Given the description of an element on the screen output the (x, y) to click on. 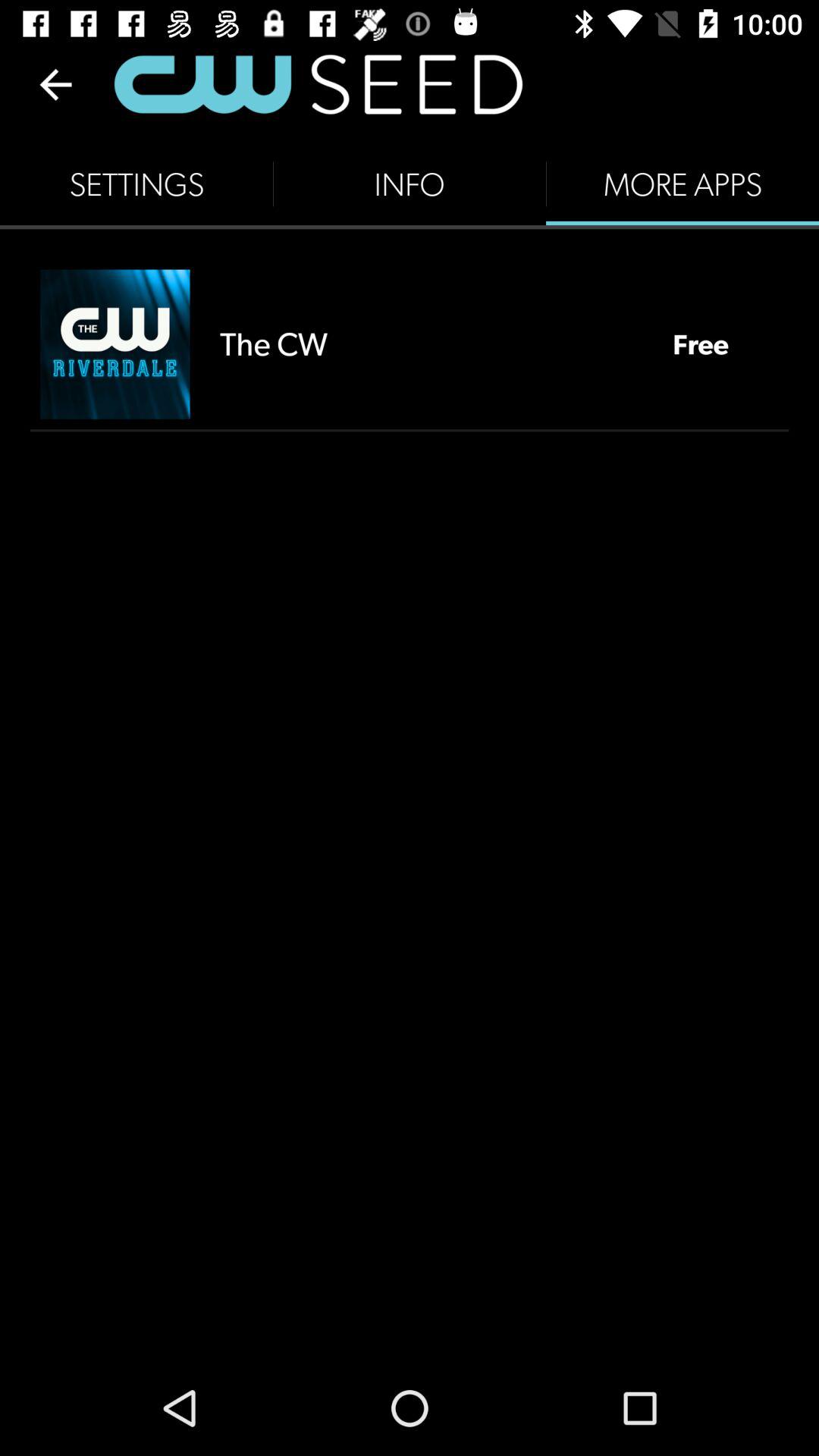
turn on icon to the left of the the cw item (114, 344)
